Given the description of an element on the screen output the (x, y) to click on. 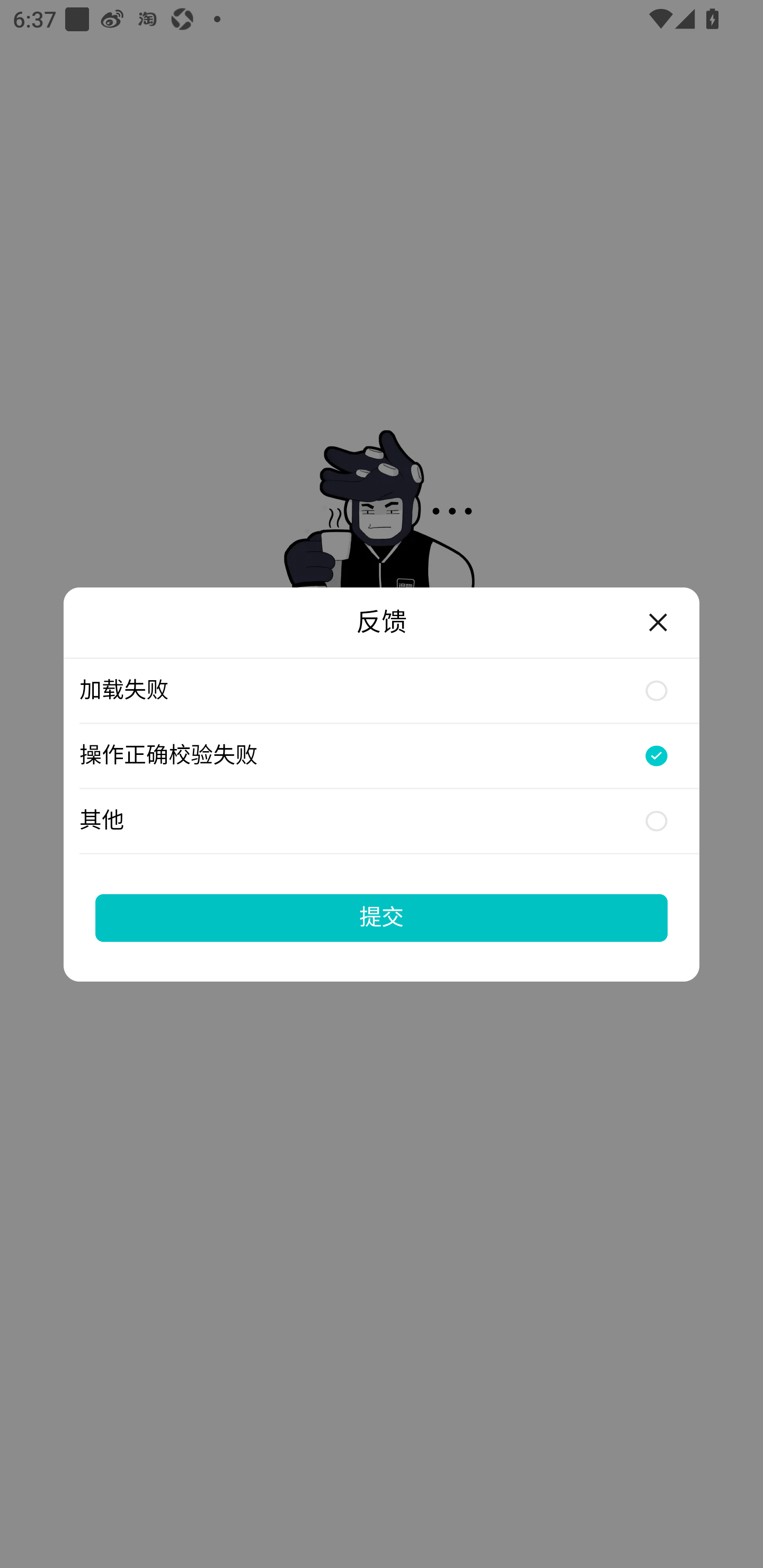
提交 (381, 917)
